Given the description of an element on the screen output the (x, y) to click on. 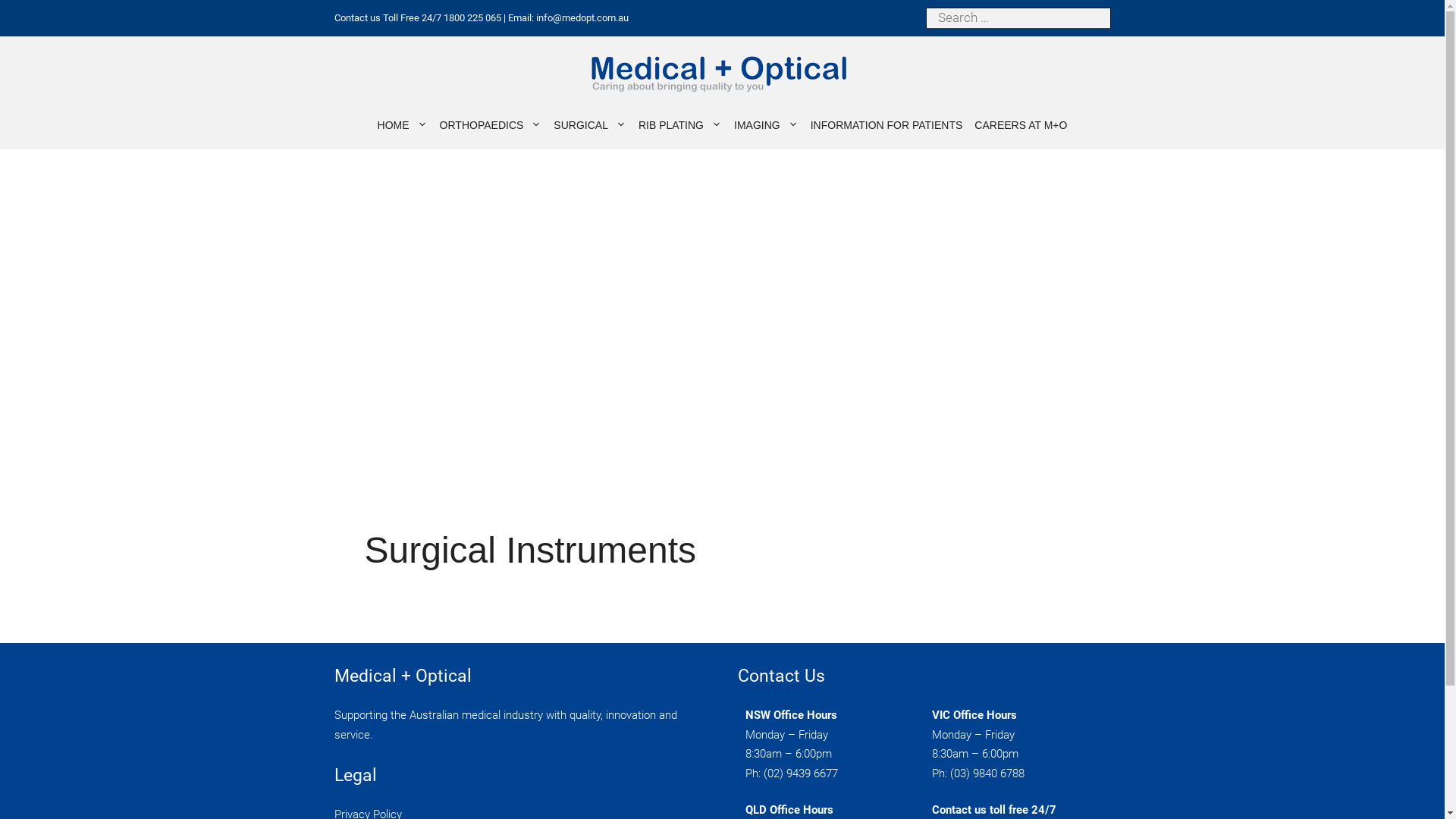
HOME Element type: text (402, 124)
Search for: Element type: hover (1017, 17)
IMAGING Element type: text (766, 124)
CAREERS AT M+O Element type: text (1020, 124)
ORTHOPAEDICS Element type: text (490, 124)
RIB PLATING Element type: text (680, 124)
INFORMATION FOR PATIENTS Element type: text (886, 124)
info@medopt.com.au Element type: text (581, 17)
Medical + Optical Element type: hover (717, 72)
1800 225 065 Element type: text (471, 17)
SURGICAL Element type: text (589, 124)
